Given the description of an element on the screen output the (x, y) to click on. 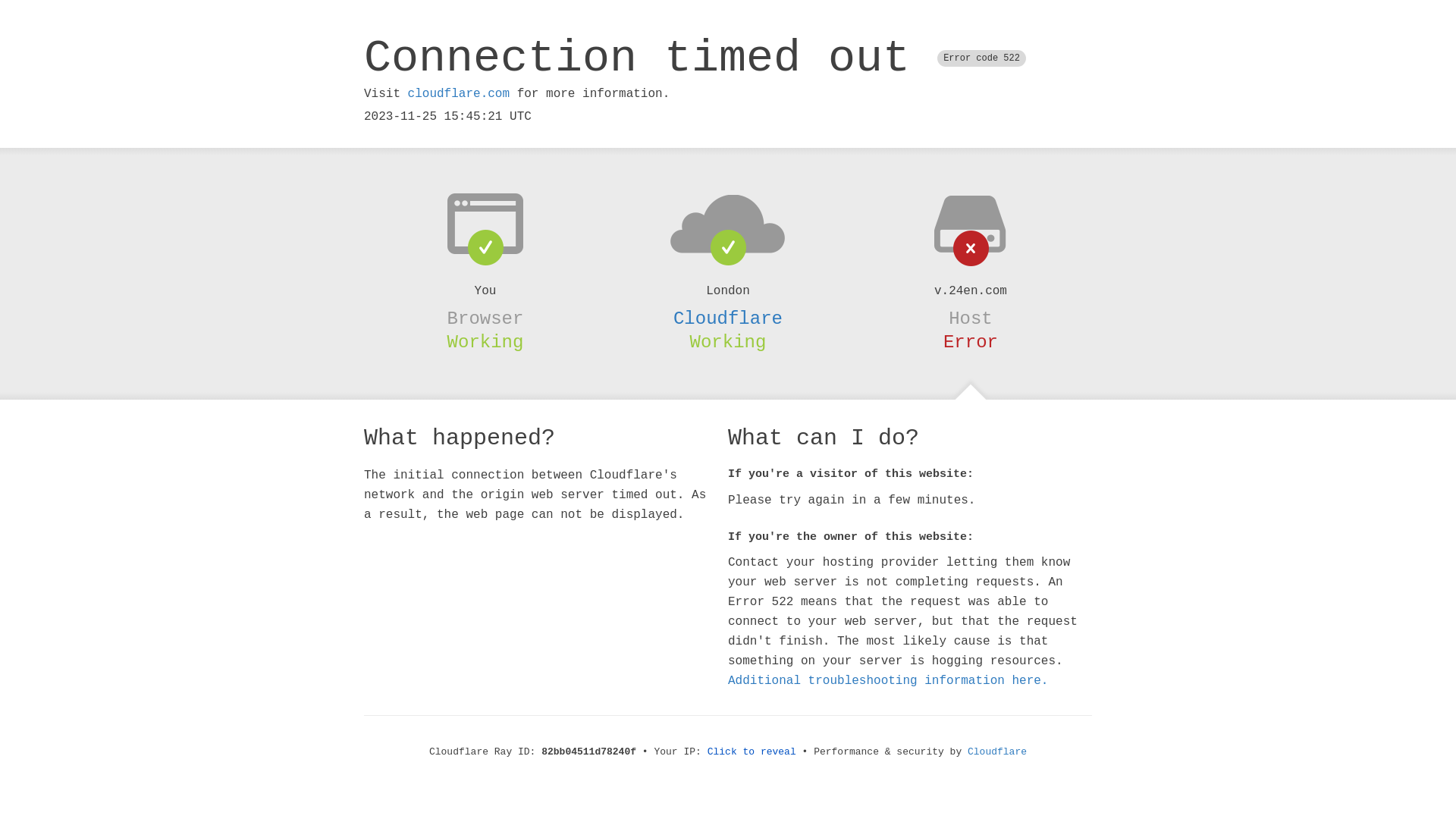
Additional troubleshooting information here. Element type: text (888, 680)
Cloudflare Element type: text (996, 751)
cloudflare.com Element type: text (458, 93)
Click to reveal Element type: text (751, 751)
Cloudflare Element type: text (727, 318)
